Given the description of an element on the screen output the (x, y) to click on. 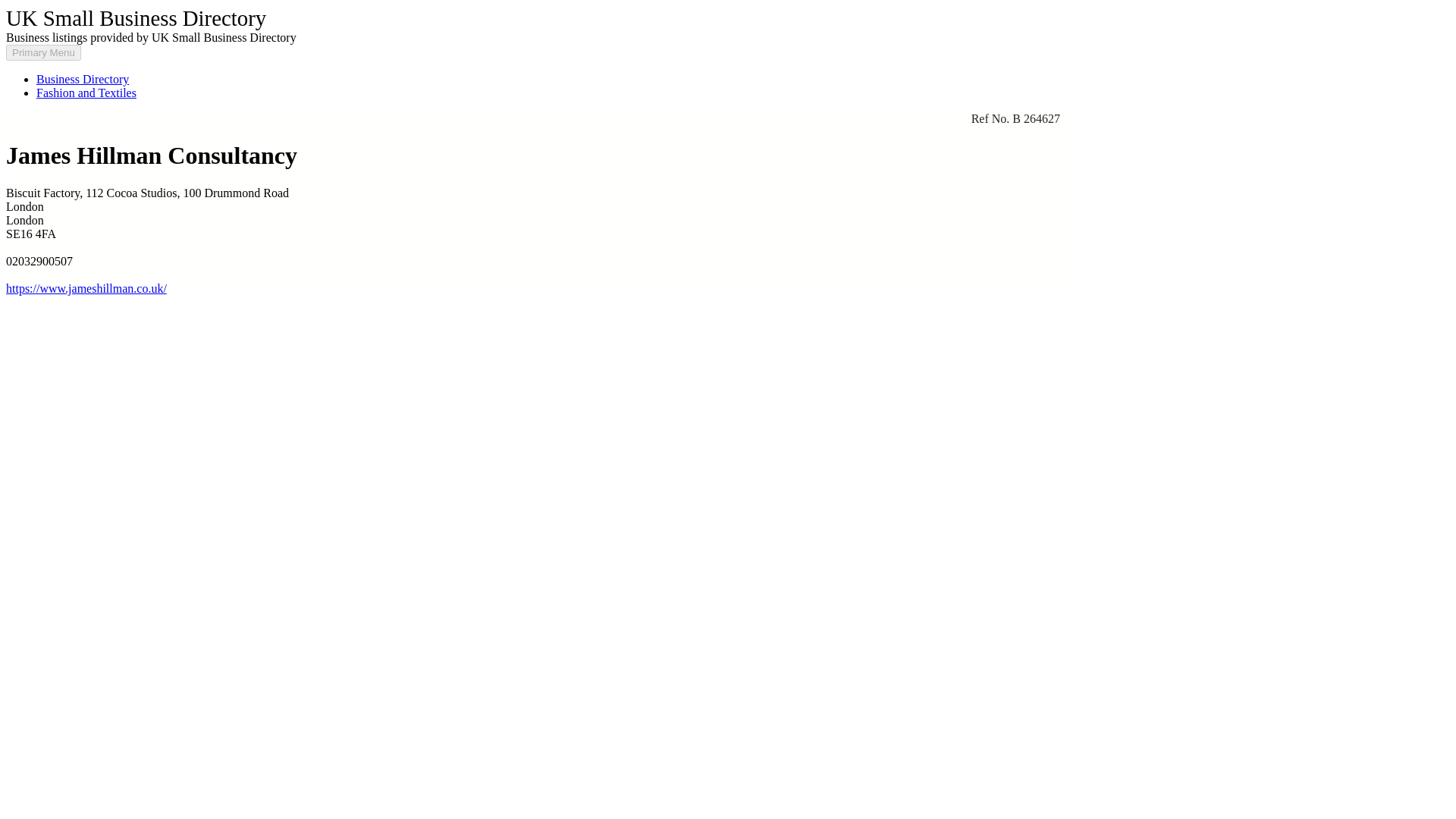
Business Directory (82, 78)
Primary Menu (43, 52)
Fashion and Textiles (86, 92)
